Given the description of an element on the screen output the (x, y) to click on. 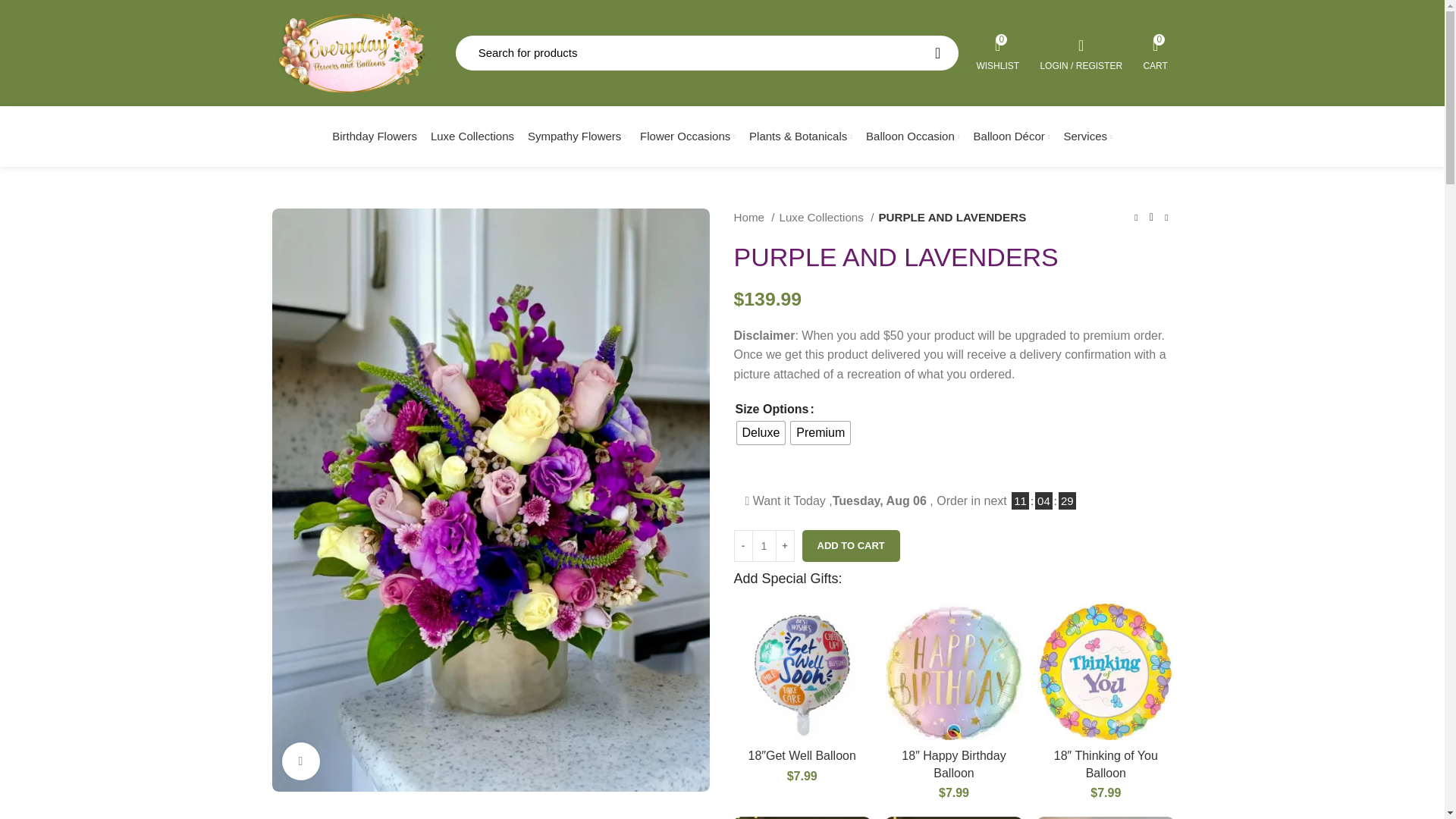
Shopping cart (1155, 52)
Sympathy Flowers (577, 136)
My Wishlist (997, 52)
Birthday Flowers (373, 136)
Balloon Occasion (912, 136)
My account (997, 52)
Flower Occasions (1155, 52)
Luxe Collections (1080, 52)
Deluxe (687, 136)
SEARCH (472, 136)
Premium (761, 432)
Search for products (937, 53)
